Given the description of an element on the screen output the (x, y) to click on. 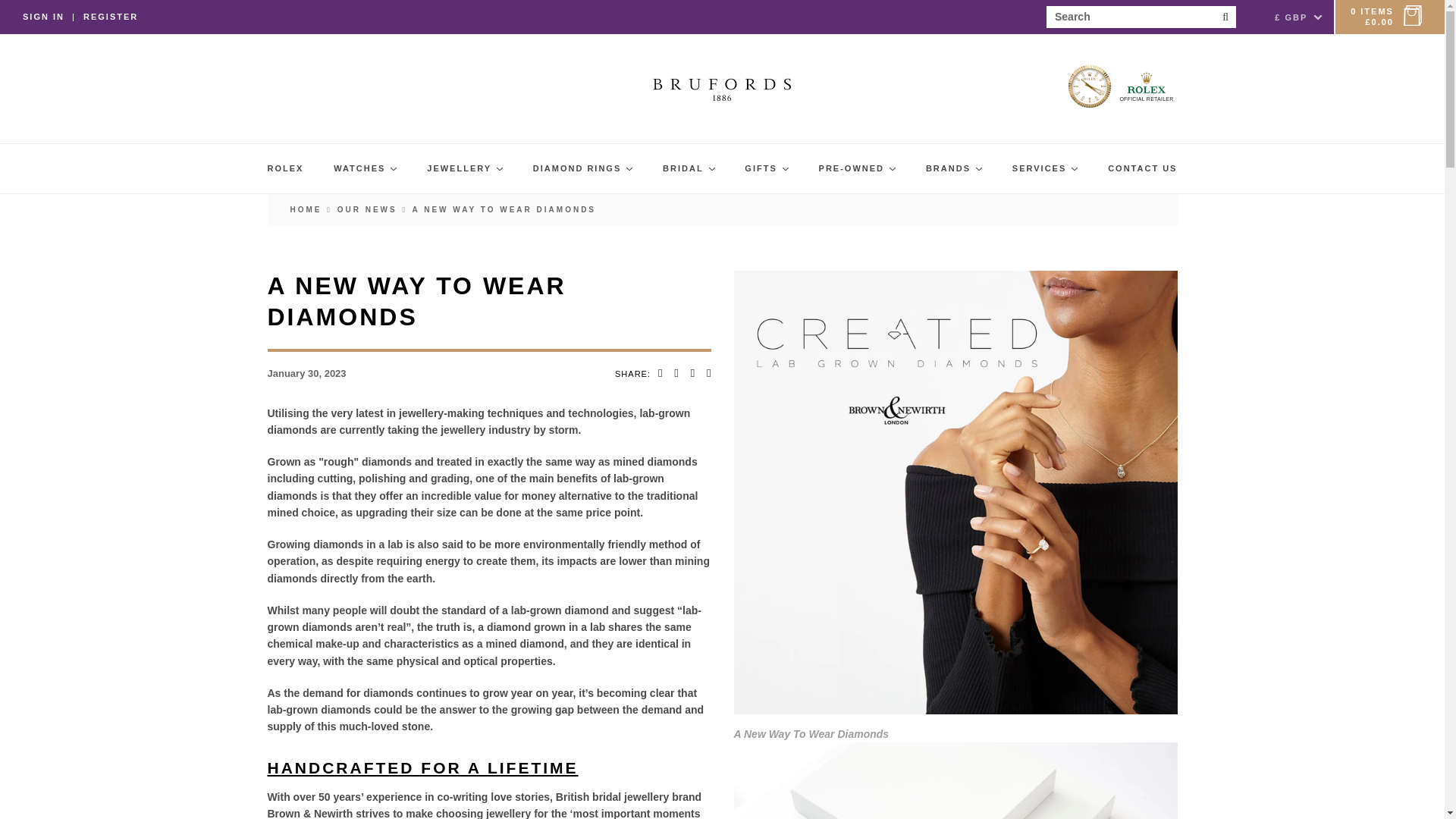
Share on Mail (705, 373)
SIGN IN (43, 16)
Submit (1223, 16)
Tweet on Twitter (675, 373)
Pin on Pinterest (691, 373)
Back to Discover Rolex (305, 208)
Share on Facebook (659, 373)
REGISTER (110, 16)
